Given the description of an element on the screen output the (x, y) to click on. 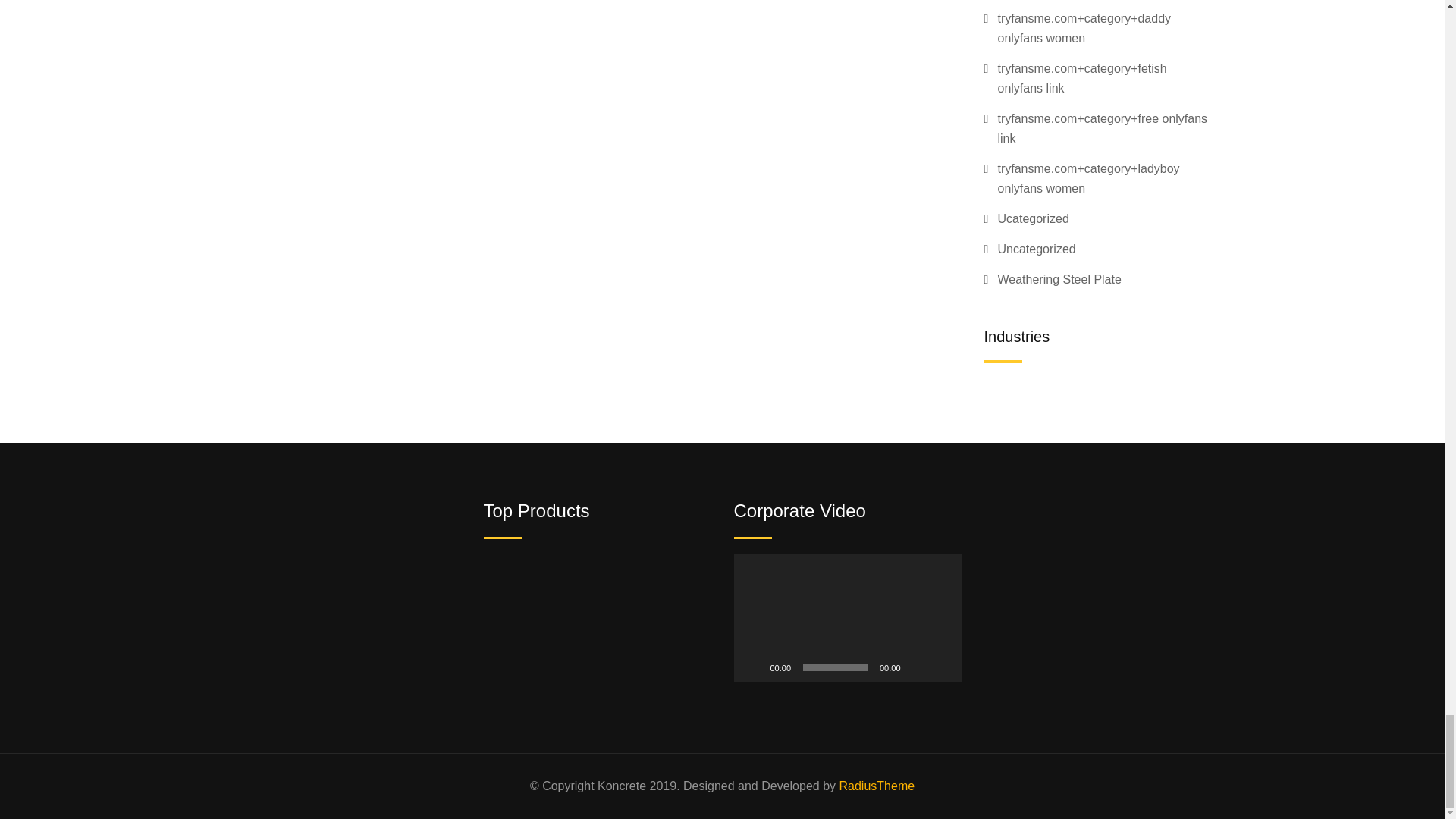
Play (753, 667)
Fullscreen (941, 667)
Mute (917, 667)
